Given the description of an element on the screen output the (x, y) to click on. 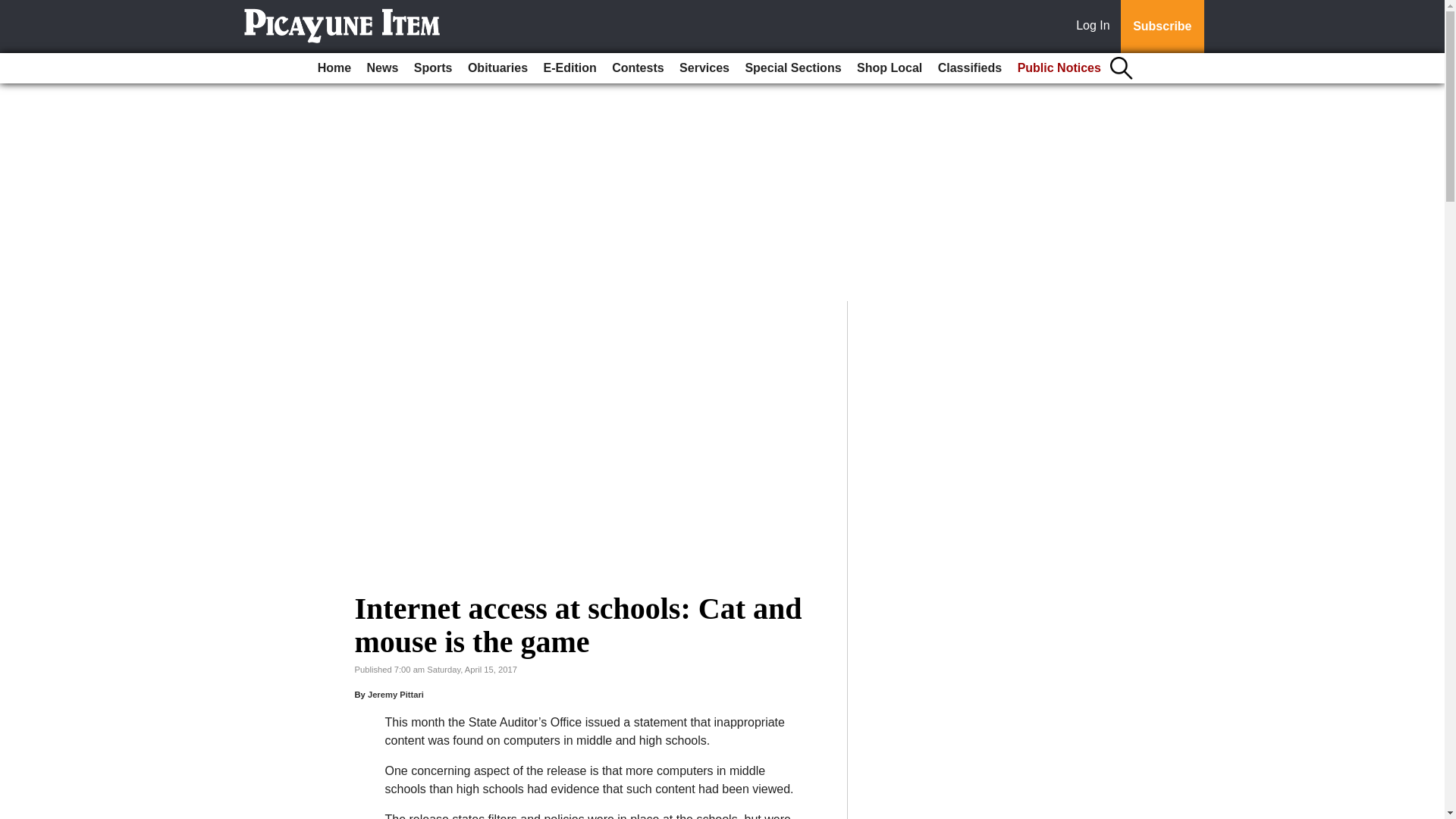
Services (703, 68)
Shop Local (889, 68)
Contests (637, 68)
Obituaries (497, 68)
News (382, 68)
Public Notices (1058, 68)
E-Edition (569, 68)
Special Sections (792, 68)
Home (333, 68)
Jeremy Pittari (395, 694)
Sports (432, 68)
Subscribe (1162, 26)
Classifieds (969, 68)
Go (13, 9)
Log In (1095, 26)
